Given the description of an element on the screen output the (x, y) to click on. 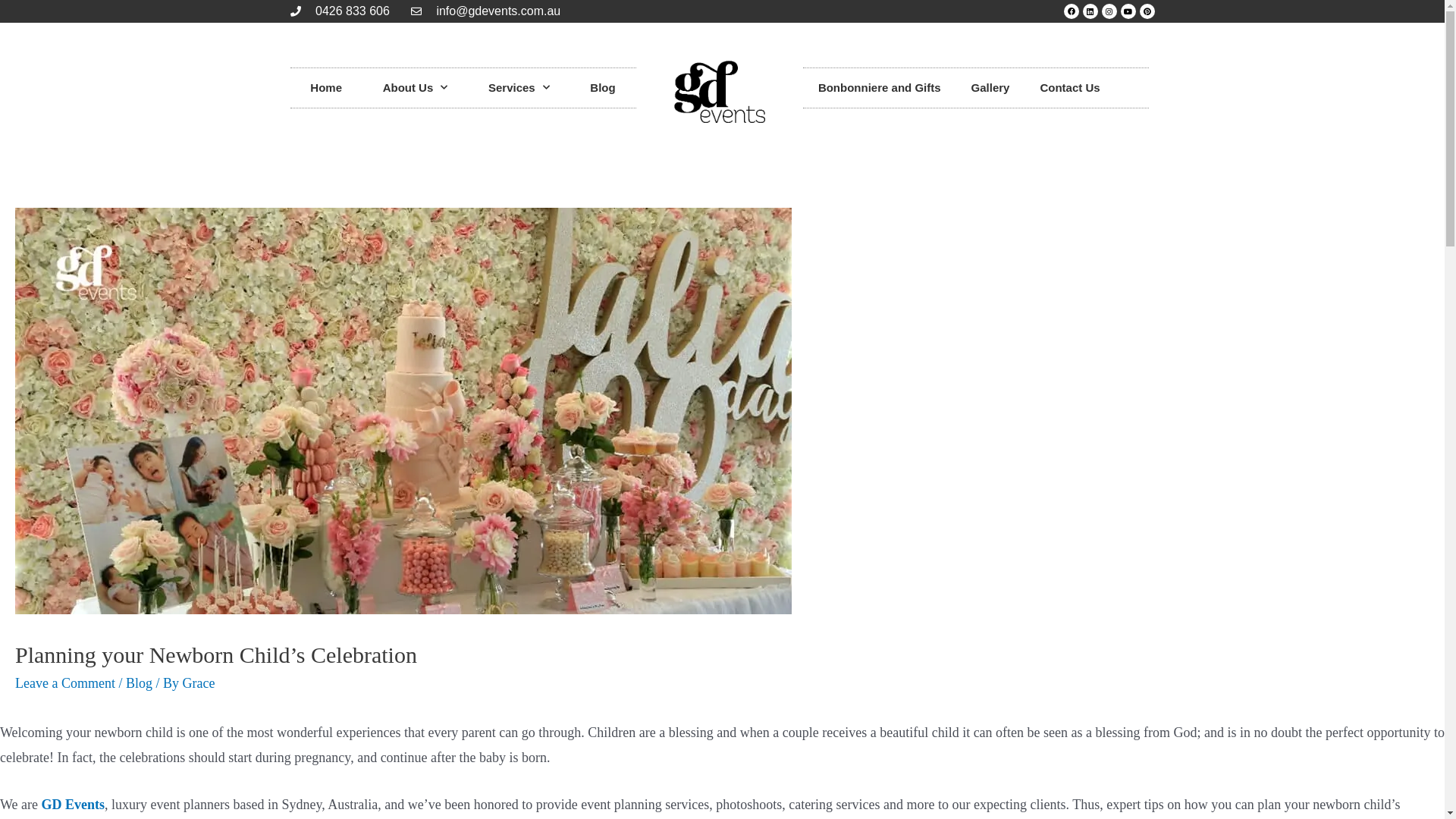
Services Element type: text (518, 87)
Leave a Comment Element type: text (65, 682)
Gallery Element type: text (990, 87)
Blog Element type: text (138, 682)
Contact Us Element type: text (1069, 87)
Bonbonniere and Gifts Element type: text (879, 87)
Home Element type: text (325, 87)
Grace Element type: text (198, 682)
info@gdevents.com.au Element type: text (485, 11)
GD Events Element type: text (73, 804)
About Us Element type: text (414, 87)
Blog Element type: text (603, 87)
